Given the description of an element on the screen output the (x, y) to click on. 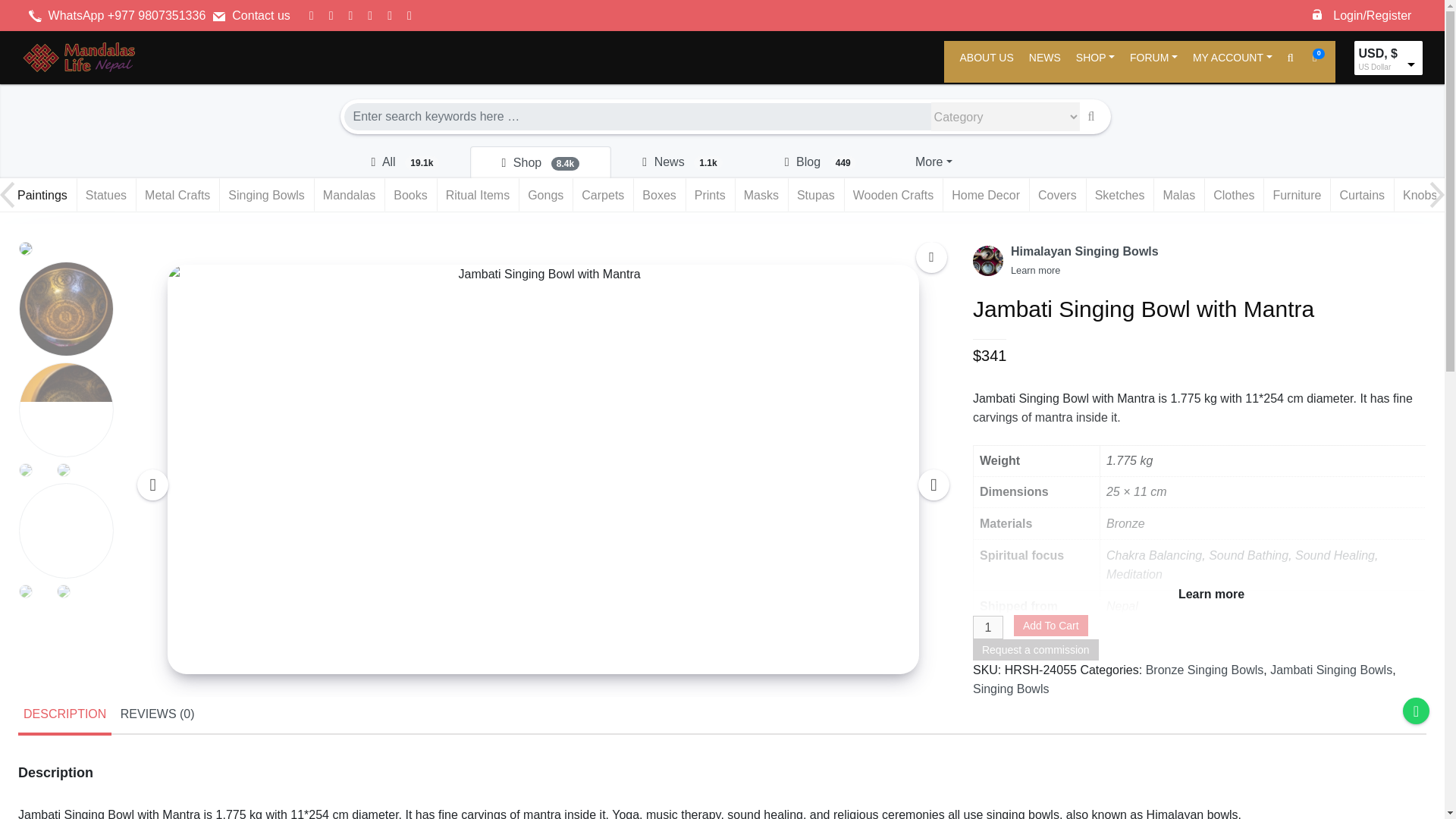
Contact us (260, 15)
MY ACCOUNT (1232, 61)
FORUM (1153, 61)
1 (987, 627)
ABOUT US (986, 61)
Search in all (403, 161)
0 (1315, 61)
All 19.1k (403, 161)
Search in shop (540, 162)
SHOP (1095, 61)
Search in news (681, 161)
Shop 8.4k (540, 162)
Search in blog (820, 161)
NEWS (1045, 61)
